Given the description of an element on the screen output the (x, y) to click on. 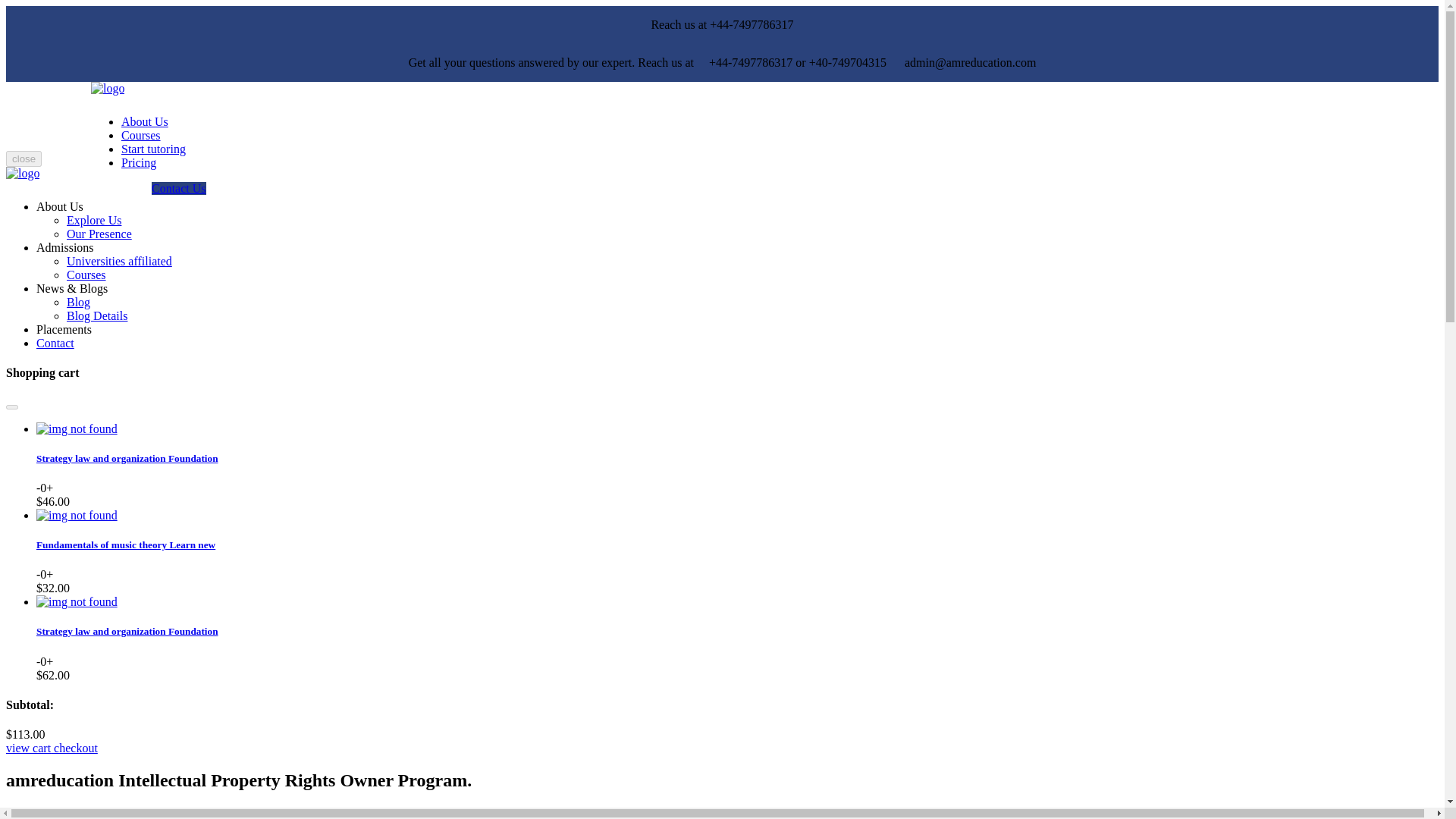
About Us (144, 121)
Blog Details (97, 315)
Strategy law and organization Foundation (127, 458)
Start tutoring (153, 148)
Fundamentals of music theory Learn new (125, 544)
Contact (55, 342)
close (23, 158)
Our Presence (99, 233)
Blog (78, 301)
Contact Us (178, 187)
